Given the description of an element on the screen output the (x, y) to click on. 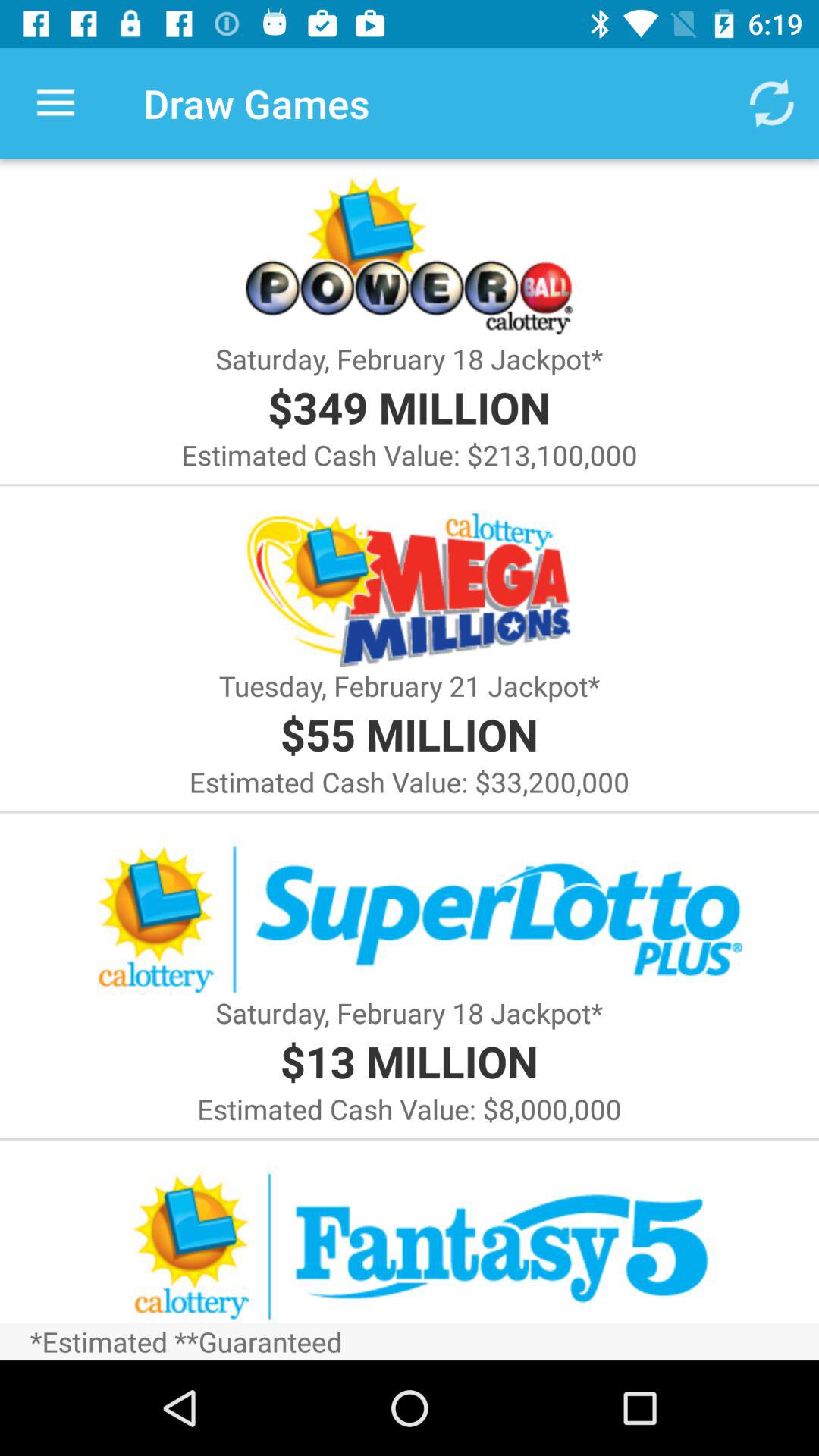
open the $349 million item (408, 406)
